Given the description of an element on the screen output the (x, y) to click on. 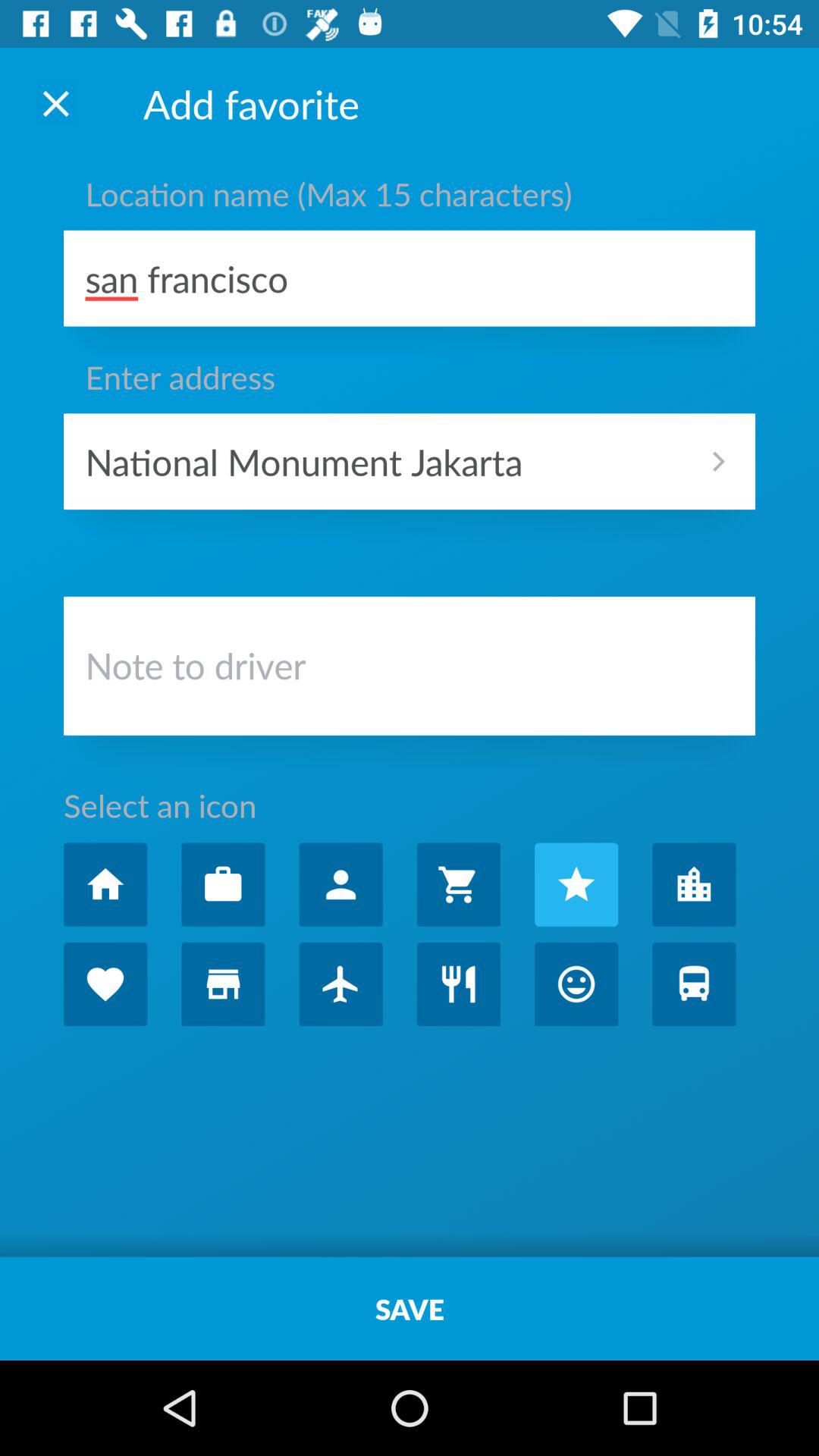
click blue star (576, 884)
